Given the description of an element on the screen output the (x, y) to click on. 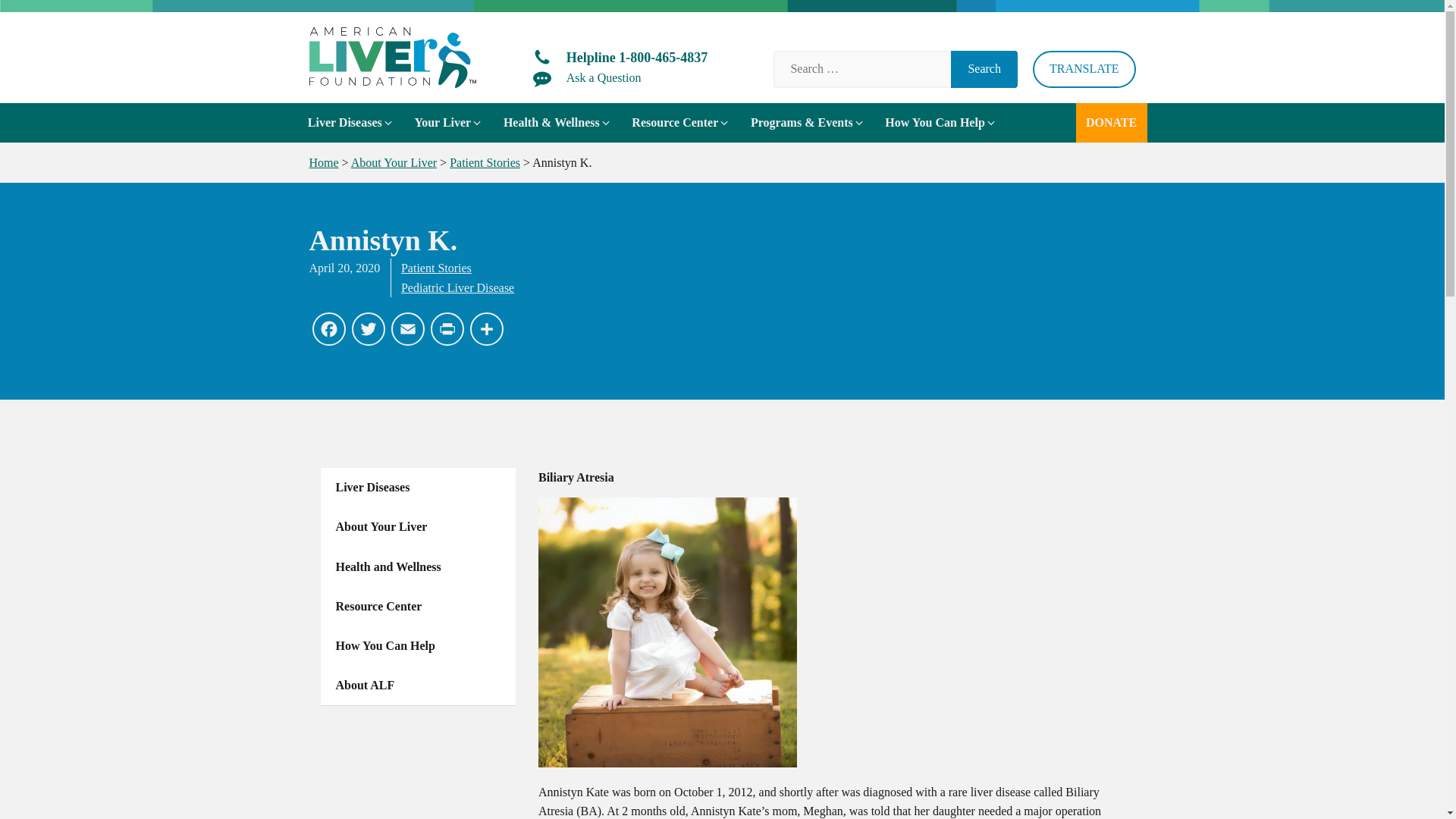
Go to About Your Liver. (393, 162)
Go to American Liver Foundation. (323, 162)
Go to Patient Stories. (484, 162)
Search (983, 68)
Helpline 1-800-465-4837 (619, 57)
Search (983, 68)
TRANSLATE (1083, 68)
Search (983, 68)
Ask a Question (587, 77)
Liver Diseases (350, 122)
